Given the description of an element on the screen output the (x, y) to click on. 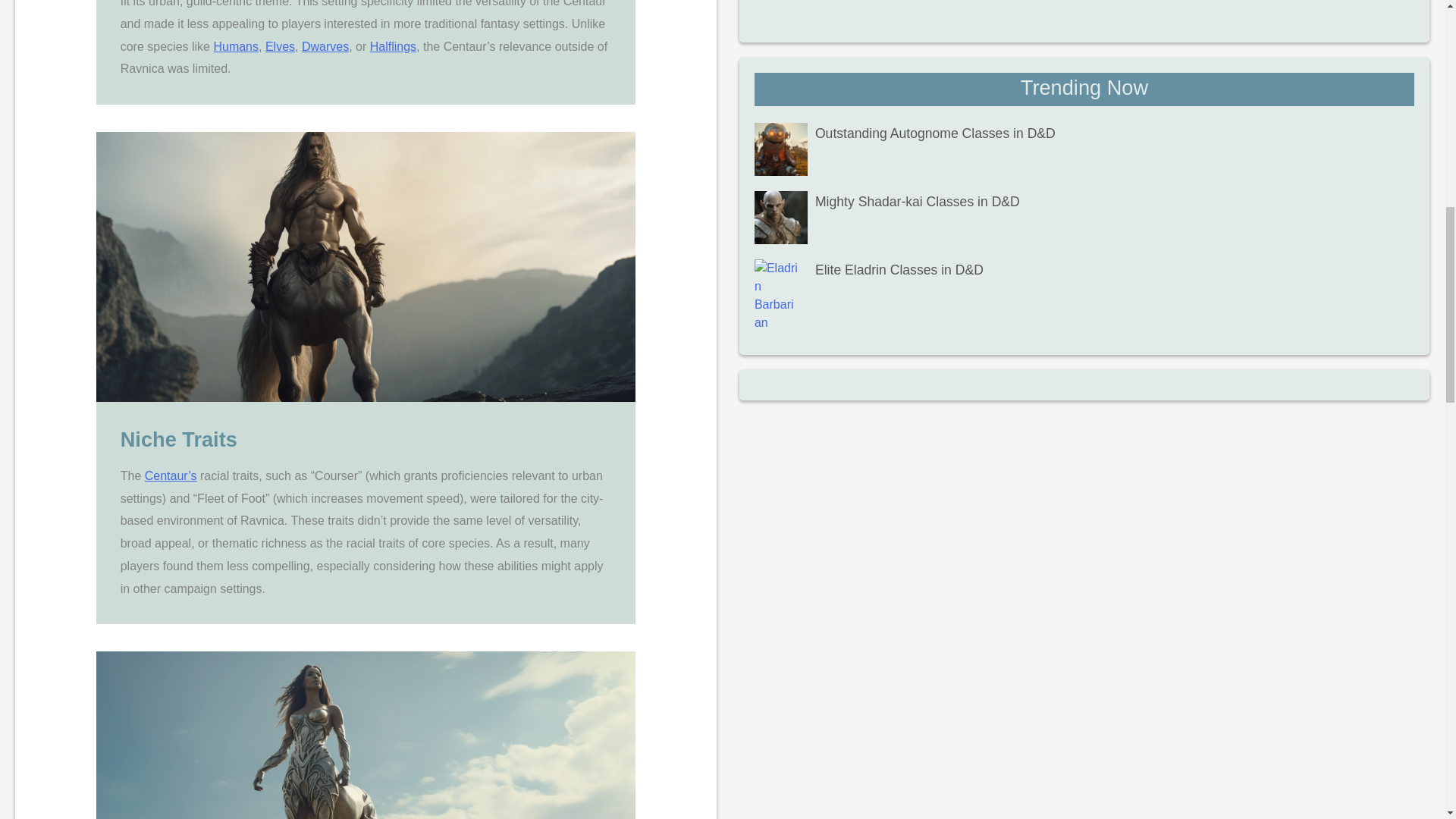
Dwarves (325, 46)
Humans (235, 46)
Elves (279, 46)
Halflings (392, 46)
